Given the description of an element on the screen output the (x, y) to click on. 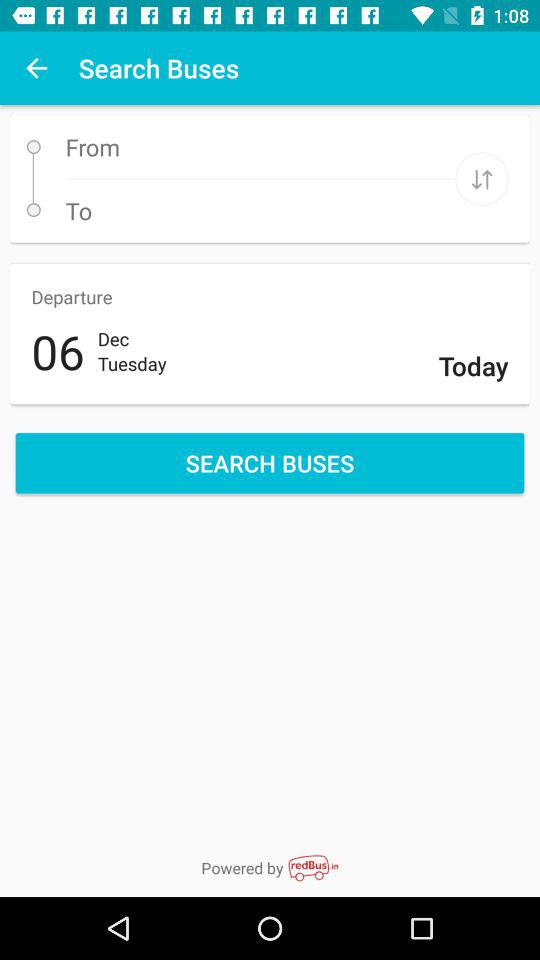
turn on the icon above the departure (481, 178)
